Given the description of an element on the screen output the (x, y) to click on. 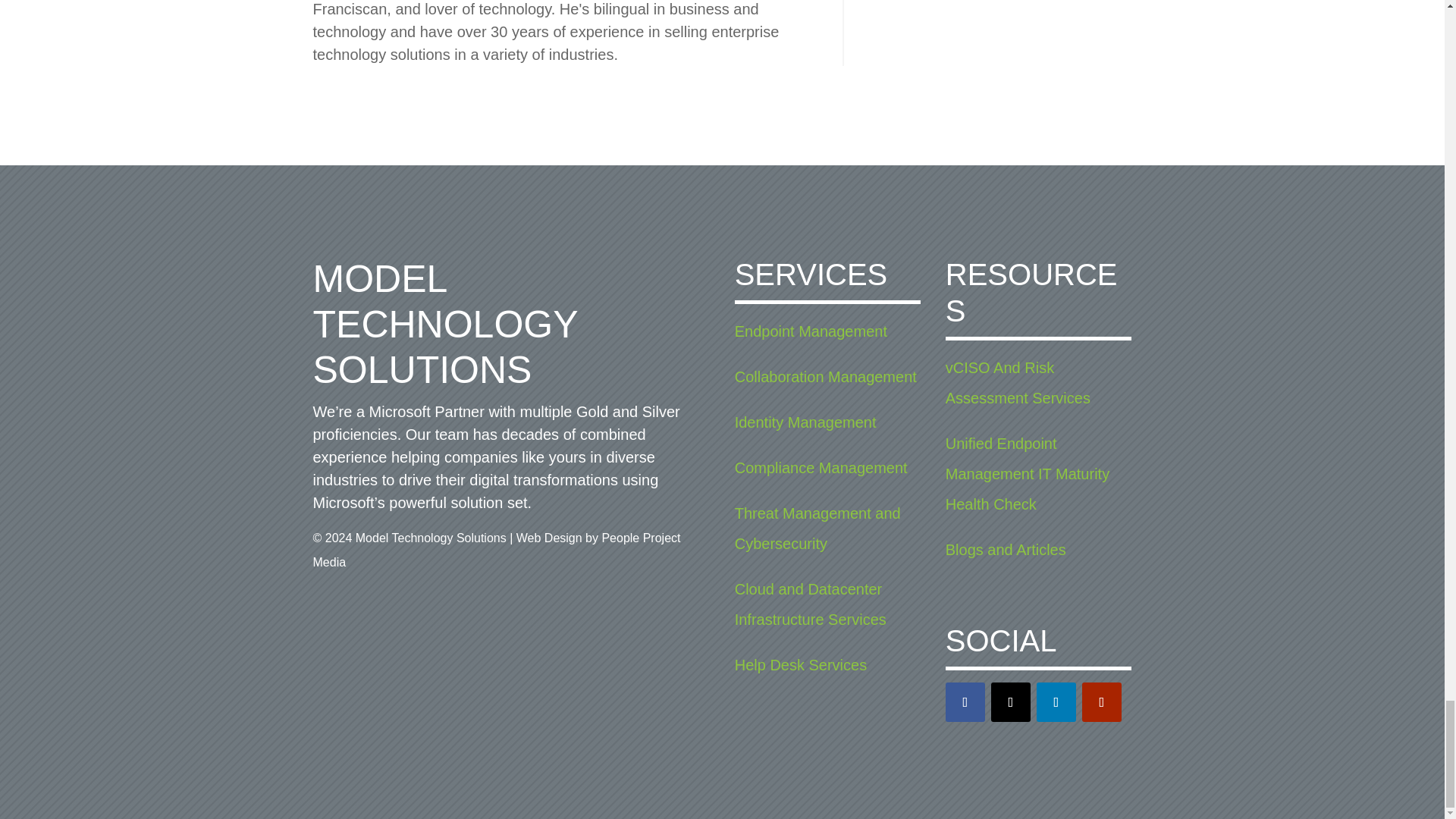
Follow on Youtube (1101, 701)
Follow on LinkedIn (1055, 701)
Follow on Twitter (1010, 701)
Follow on Facebook (964, 701)
